Given the description of an element on the screen output the (x, y) to click on. 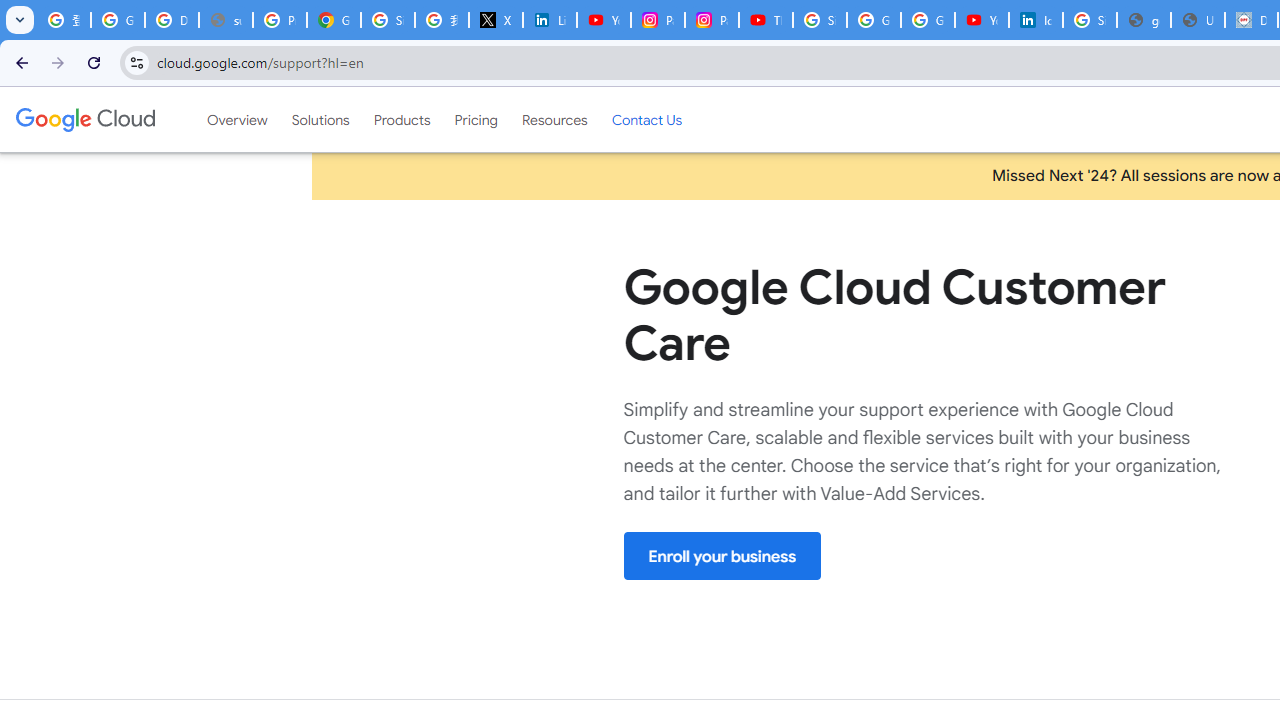
YouTube Content Monetization Policies - How YouTube Works (604, 20)
Enroll your business (722, 556)
Products (401, 119)
Privacy Help Center - Policies Help (280, 20)
google_privacy_policy_en.pdf (1144, 20)
LinkedIn Privacy Policy (550, 20)
Contact Us (646, 119)
Solutions (320, 119)
